Given the description of an element on the screen output the (x, y) to click on. 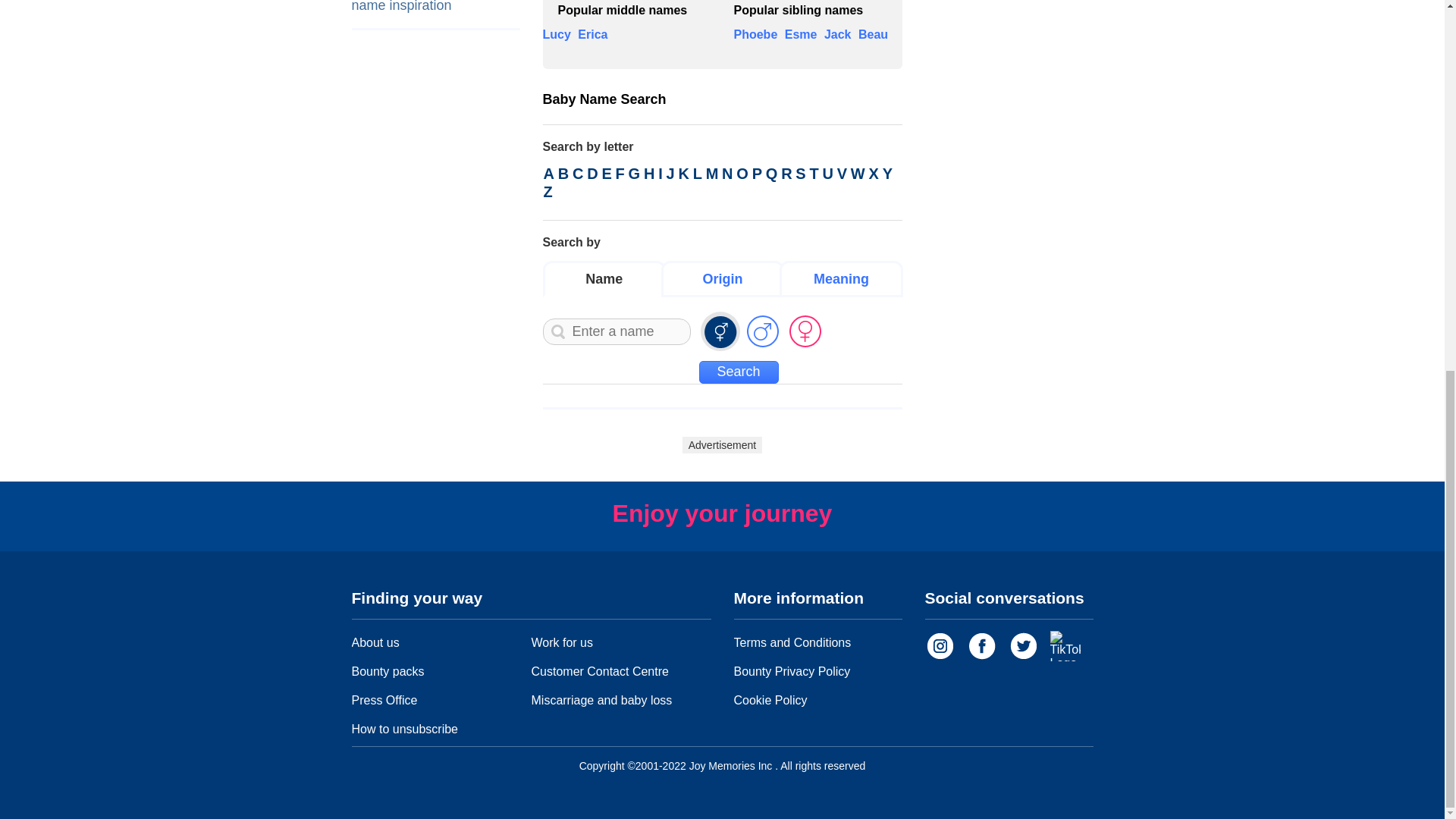
Search (738, 372)
